Given the description of an element on the screen output the (x, y) to click on. 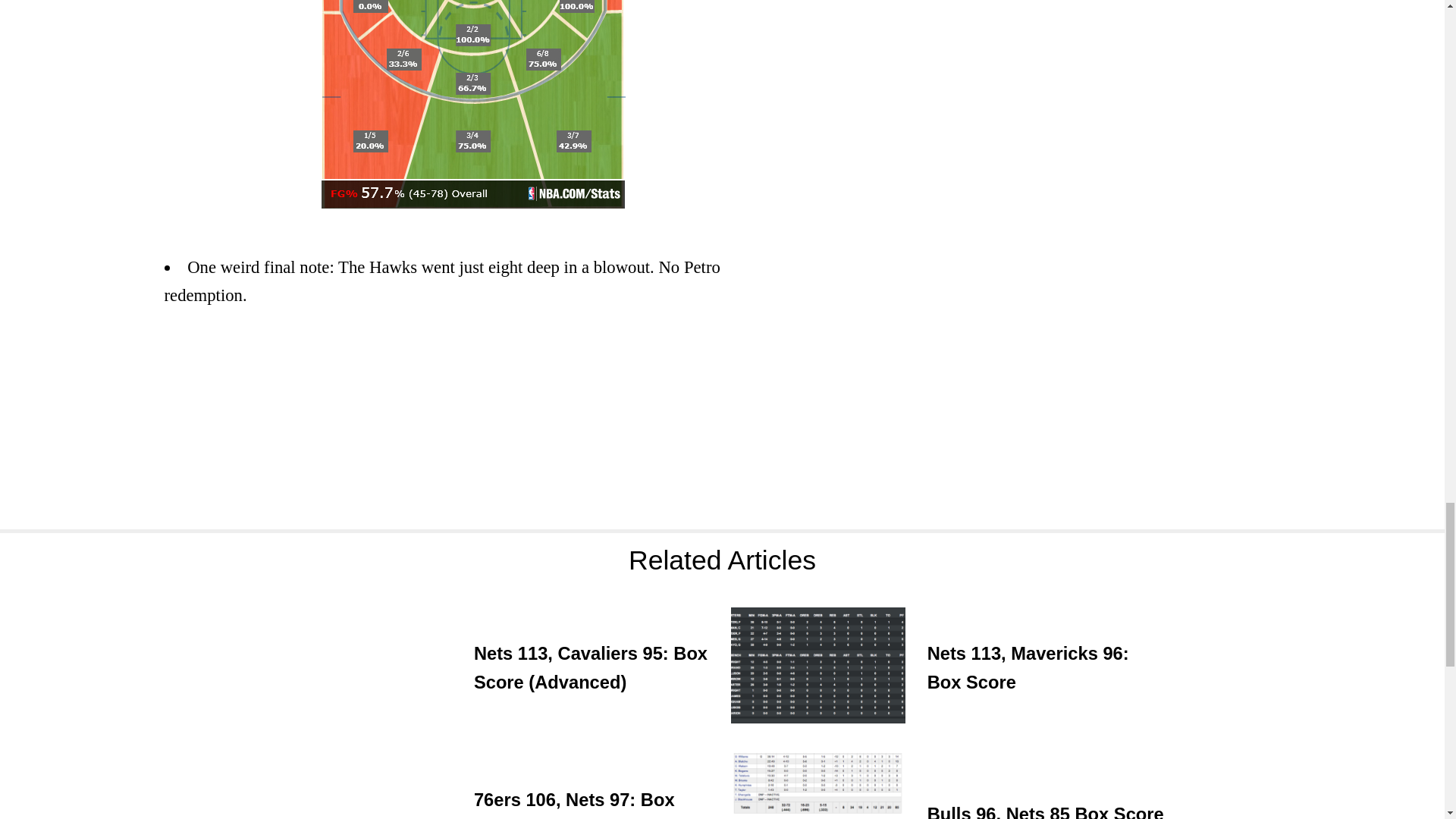
leftright (473, 104)
